Given the description of an element on the screen output the (x, y) to click on. 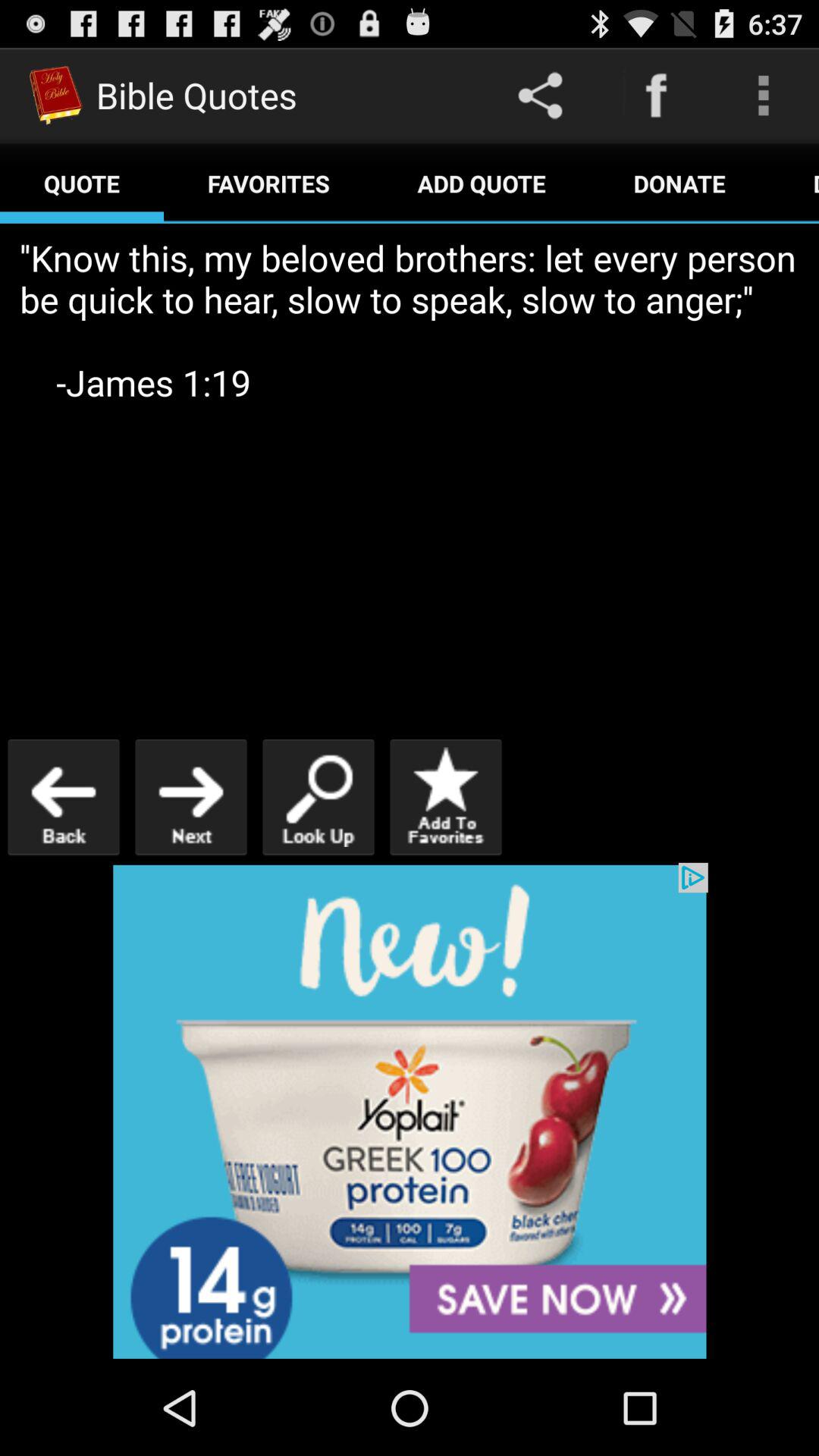
advertisement link (409, 1111)
